Given the description of an element on the screen output the (x, y) to click on. 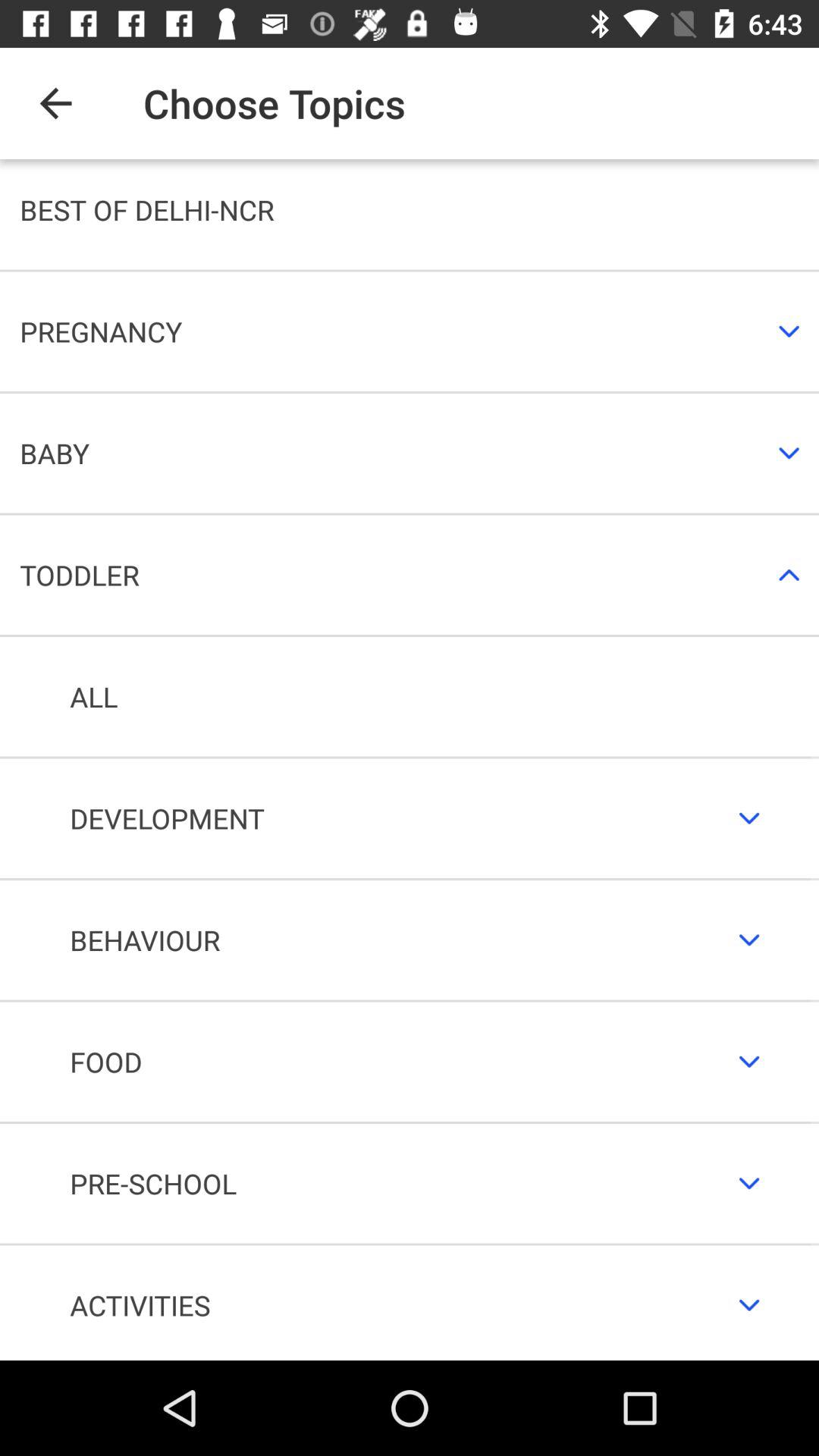
choose icon above best of delhi item (55, 103)
